Given the description of an element on the screen output the (x, y) to click on. 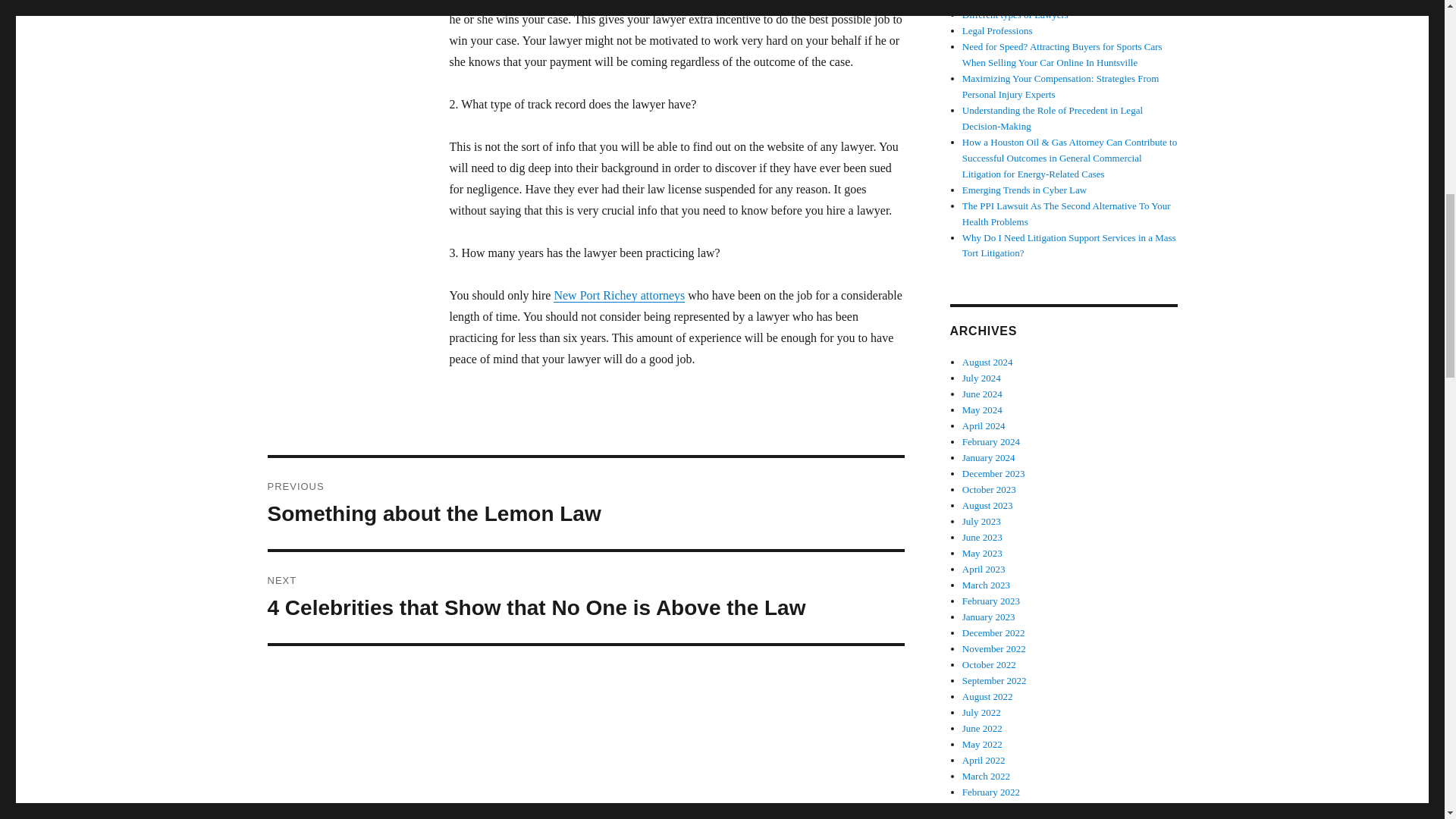
December 2023 (993, 473)
May 2023 (982, 552)
October 2023 (989, 489)
July 2023 (981, 521)
January 2023 (988, 616)
Understanding the Role of Precedent in Legal Decision-Making (1052, 117)
April 2024 (984, 425)
June 2024 (982, 393)
